Given the description of an element on the screen output the (x, y) to click on. 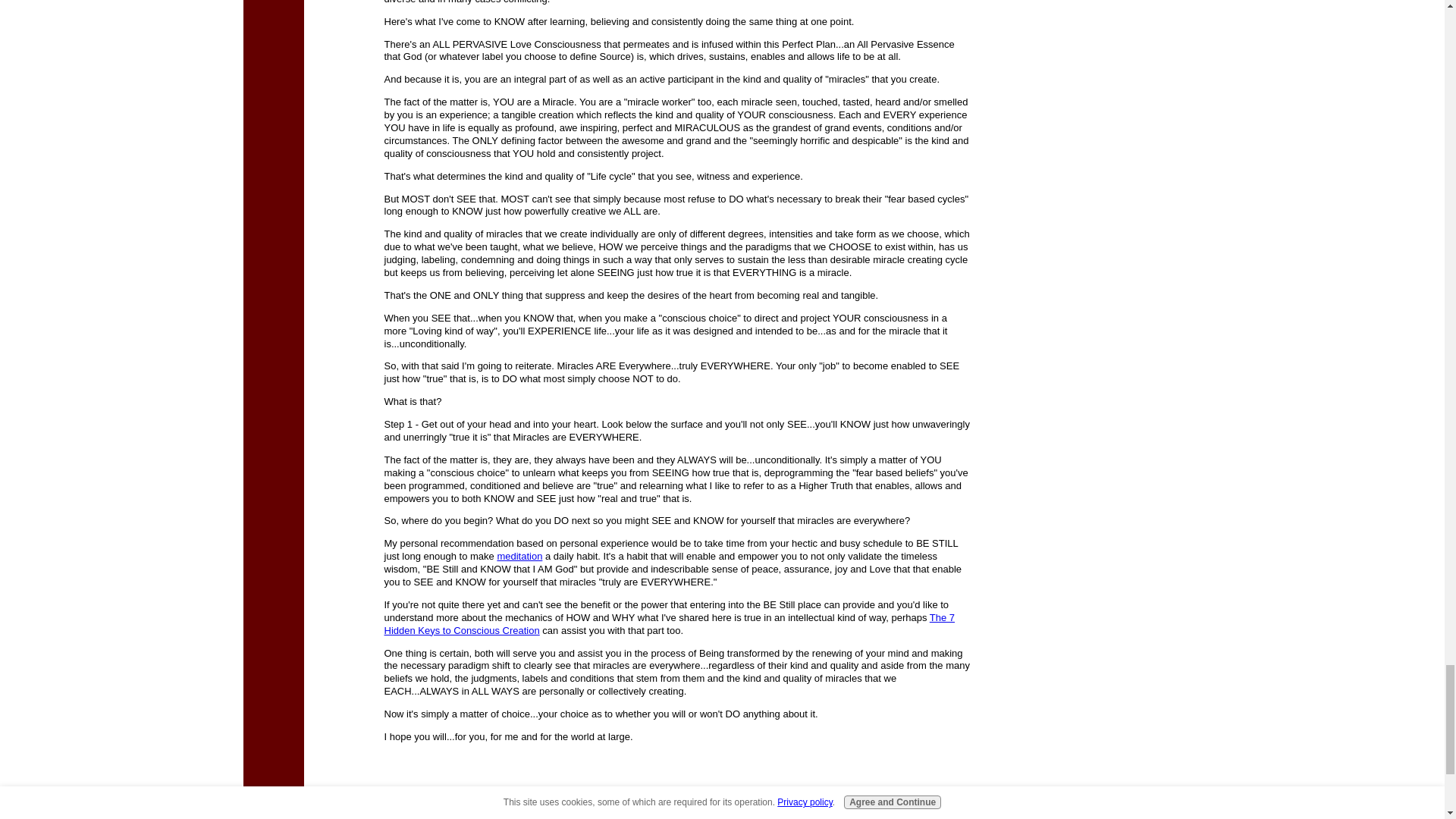
The 7 Hidden Keys to Conscious Creation (669, 623)
meditation (518, 555)
